Given the description of an element on the screen output the (x, y) to click on. 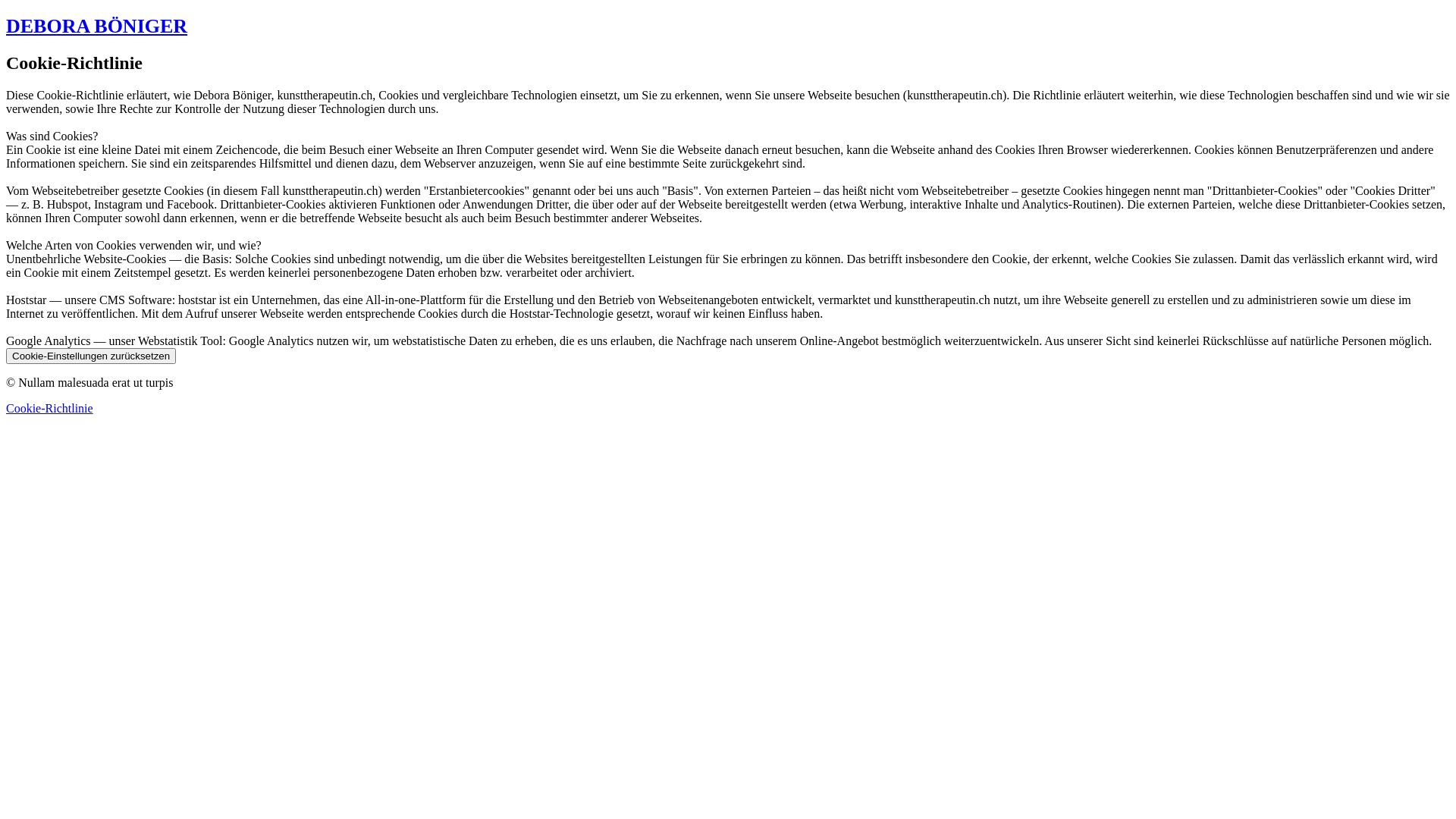
Cookie-Richtlinie Element type: text (49, 407)
